Given the description of an element on the screen output the (x, y) to click on. 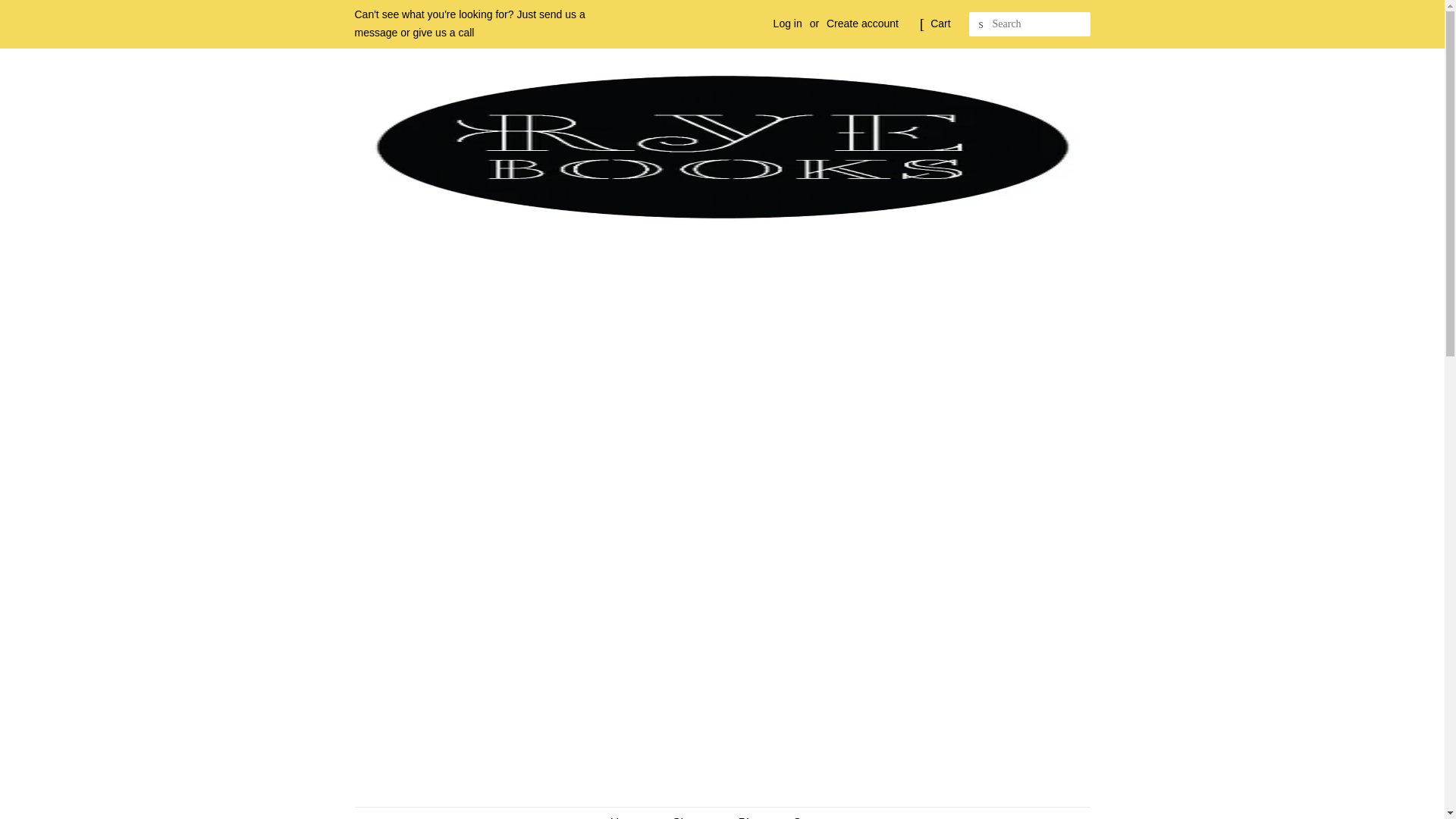
Cart (940, 24)
Create account (862, 23)
Search (980, 24)
Log in (787, 23)
